Given the description of an element on the screen output the (x, y) to click on. 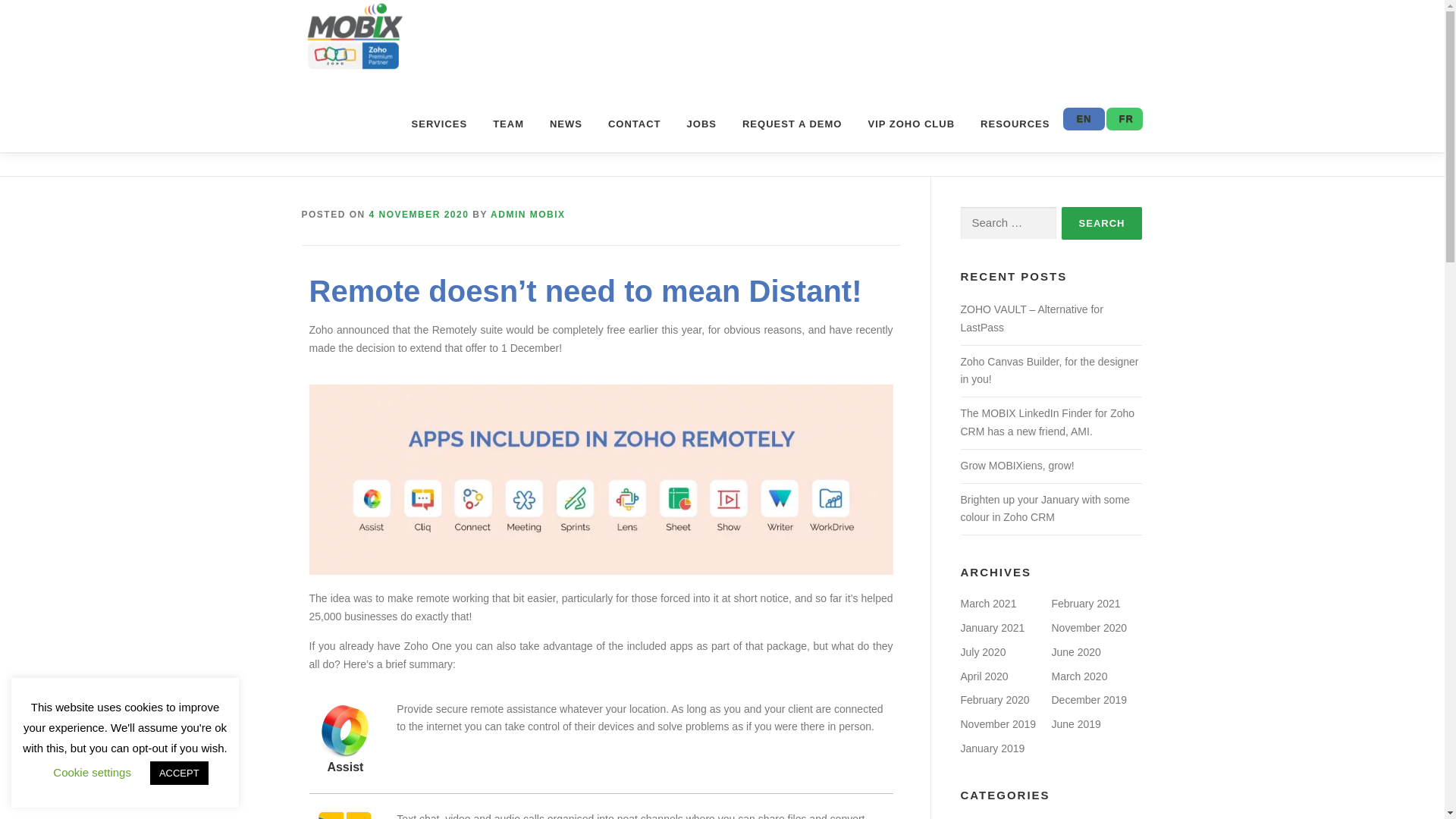
Search (1101, 223)
January 2019 (992, 748)
ZOHO CLIQ (344, 814)
NEWS (566, 123)
Brighten up your January with some colour in Zoho CRM (1044, 508)
SERVICES (439, 123)
Search (1101, 223)
November 2020 (1088, 627)
REQUEST A DEMO (792, 123)
Grow MOBIXiens, grow! (1016, 465)
ADMIN MOBIX (528, 214)
FR (1123, 118)
July 2020 (982, 652)
December 2019 (1088, 699)
JOBS (701, 123)
